Given the description of an element on the screen output the (x, y) to click on. 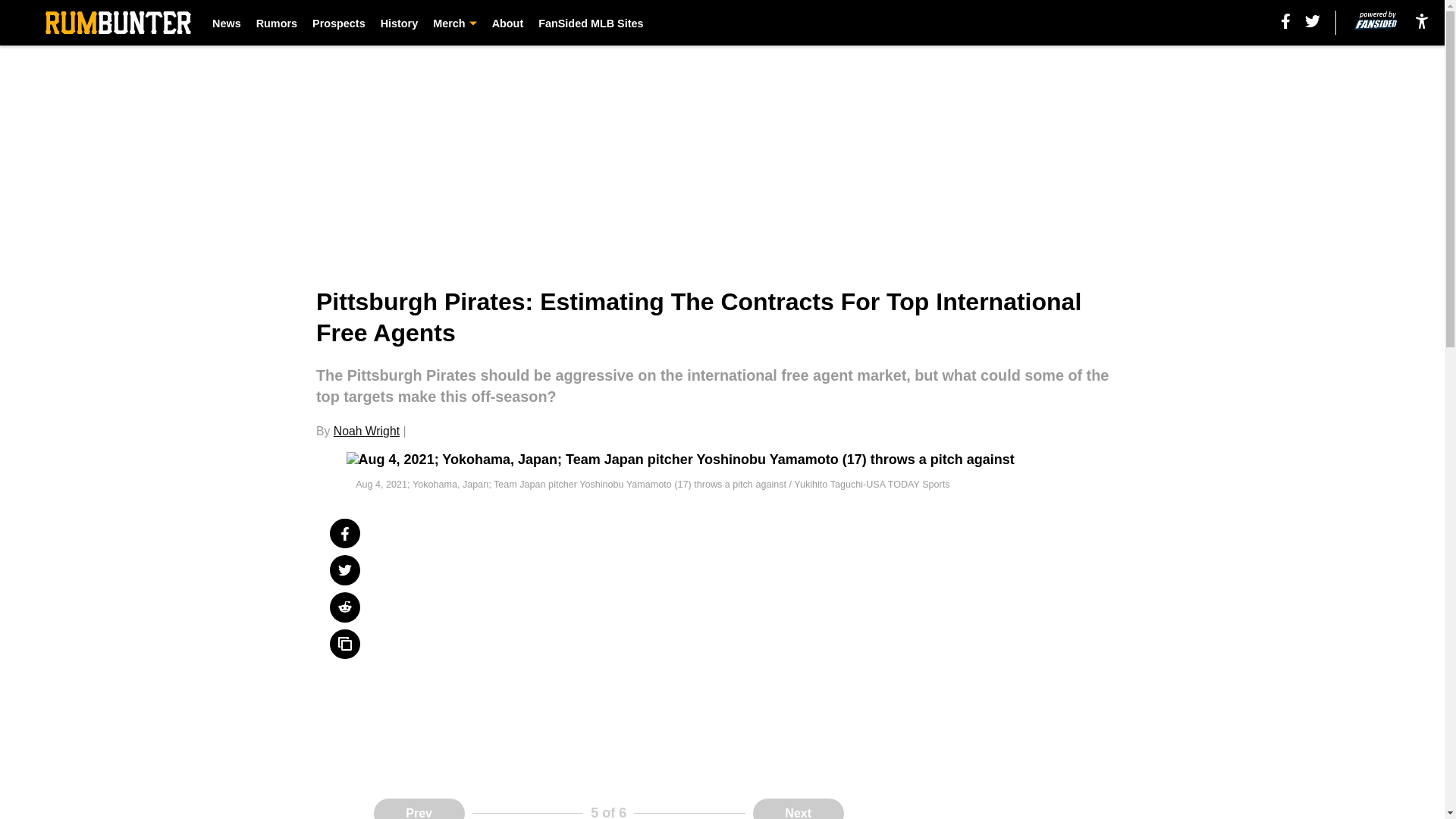
FanSided MLB Sites (590, 23)
About (508, 23)
Noah Wright (365, 431)
News (226, 23)
Prev (419, 808)
Rumors (276, 23)
Next (798, 808)
Prospects (339, 23)
History (399, 23)
